Given the description of an element on the screen output the (x, y) to click on. 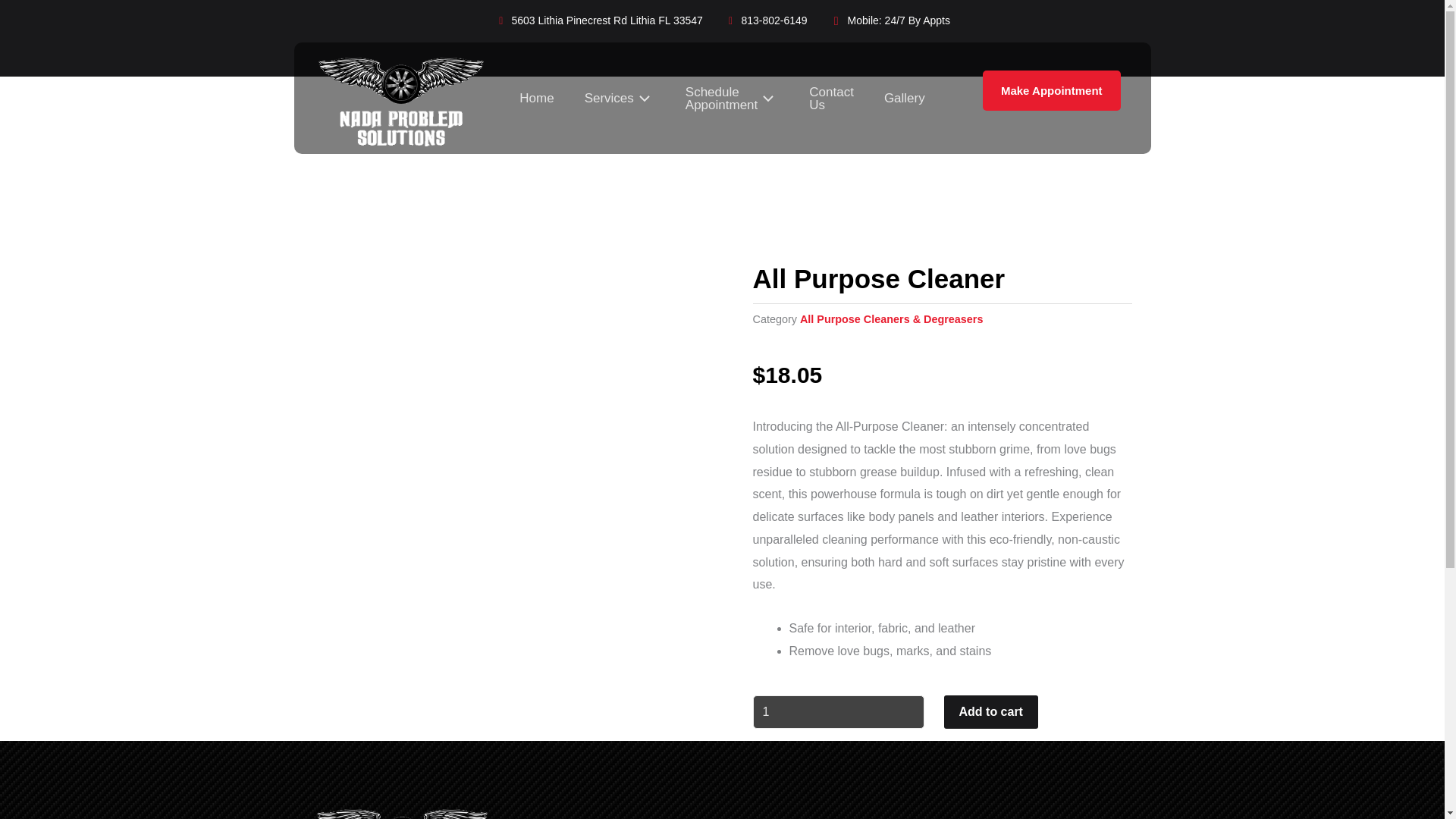
Services (619, 98)
Gallery (904, 98)
5603 Lithia Pinecrest Rd Lithia FL 33547 (599, 21)
Contact Us (831, 98)
Add to cart (989, 711)
1 (837, 711)
Home (536, 98)
813-802-6149 (765, 21)
Schedule Appointment (731, 98)
Make Appointment (1051, 90)
